Given the description of an element on the screen output the (x, y) to click on. 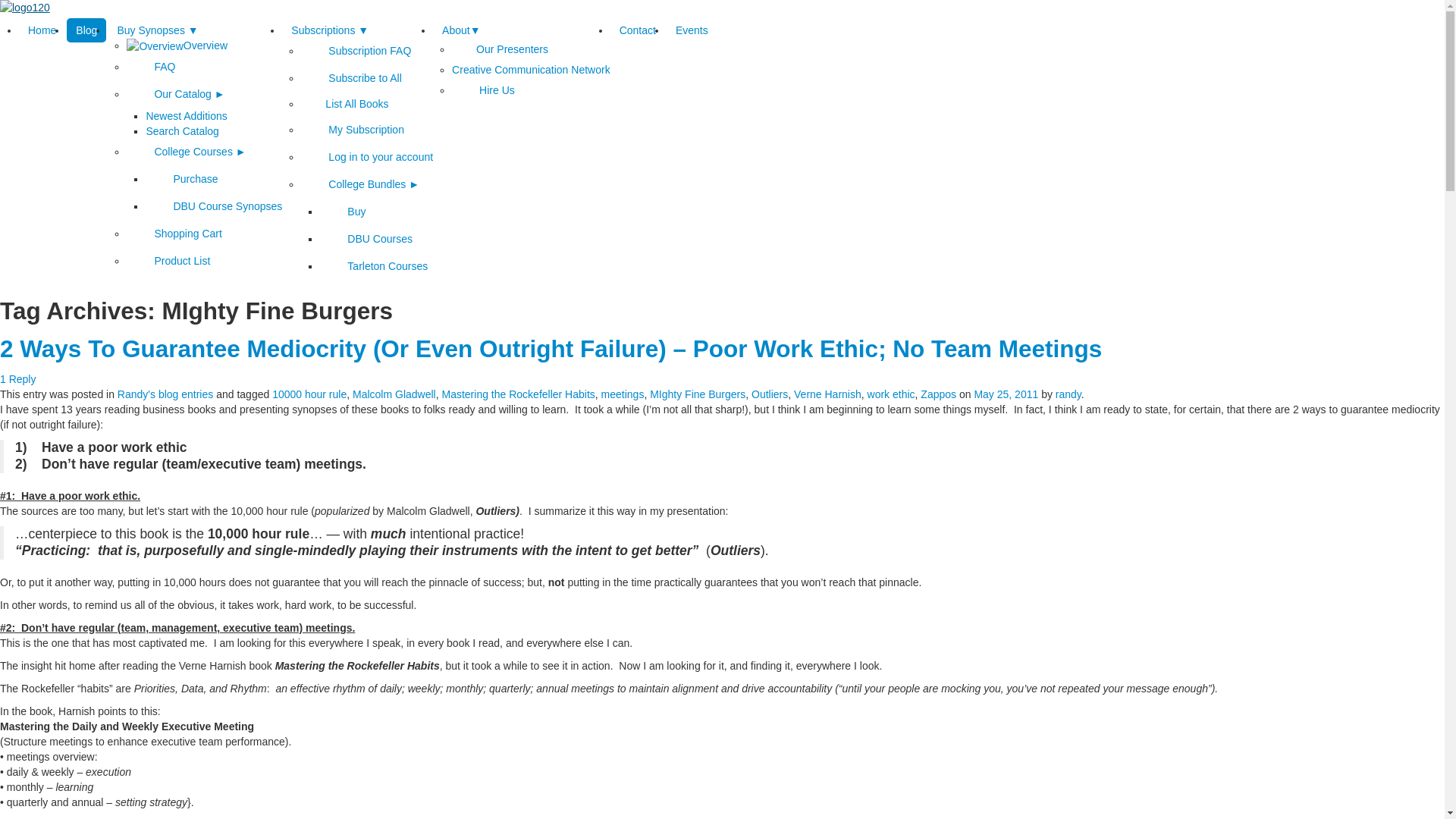
Log in to your account Element type: text (367, 156)
Home Element type: text (41, 30)
1 Reply Element type: text (17, 379)
FAQ Element type: text (150, 66)
Purchase Element type: text (181, 178)
List All Books Element type: text (344, 103)
Blog Element type: text (86, 30)
Mastering the Rockefeller Habits Element type: text (517, 394)
Shopping Cart Element type: text (174, 233)
May 25, 2011 Element type: text (1005, 394)
Tarleton Courses Element type: text (373, 266)
DBU Course Synopses Element type: text (213, 206)
Our Presenters Element type: text (499, 49)
10000 hour rule Element type: text (309, 394)
randy Element type: text (1068, 394)
Search Catalog Element type: text (182, 131)
Buy Element type: text (342, 211)
Product List Element type: text (168, 260)
Creative Communication Network Element type: text (530, 69)
meetings Element type: text (622, 394)
Subscribe to All Element type: text (351, 78)
Zappos Element type: text (938, 394)
Newest Additions Element type: text (185, 115)
Events Element type: text (691, 30)
Malcolm Gladwell Element type: text (394, 394)
Contact Element type: text (637, 30)
Subscription FAQ Element type: text (356, 50)
My Subscription Element type: text (352, 129)
DBU Courses Element type: text (366, 238)
work ethic Element type: text (891, 394)
Overview Element type: text (176, 45)
MIghty Fine Burgers Element type: text (697, 394)
Verne Harnish Element type: text (827, 394)
Outliers Element type: text (769, 394)
Randy's blog entries Element type: text (165, 394)
Hire Us Element type: text (482, 90)
